Given the description of an element on the screen output the (x, y) to click on. 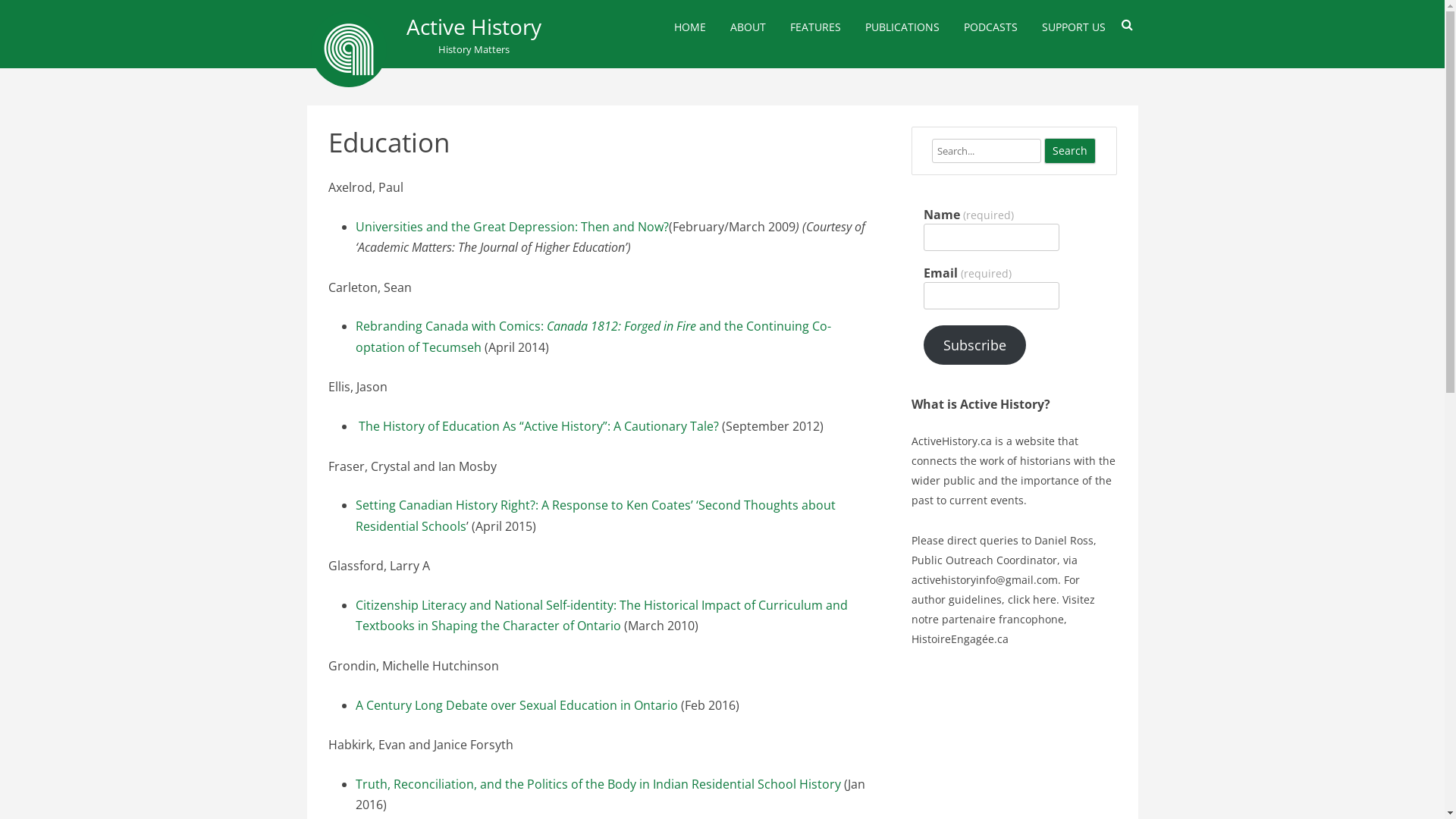
Subscribe Element type: text (974, 344)
FEATURES Element type: text (815, 27)
Active History Element type: text (473, 26)
A Century Long Debate over Sexual Education in Ontario Element type: text (515, 704)
click here Element type: text (1031, 599)
HOME Element type: text (689, 27)
PODCASTS Element type: text (989, 27)
Search Element type: text (1069, 150)
Universities and the Great Depression: Then and Now? Element type: text (511, 226)
SUPPORT US Element type: text (1073, 27)
PUBLICATIONS Element type: text (901, 27)
ABOUT Element type: text (747, 27)
